Given the description of an element on the screen output the (x, y) to click on. 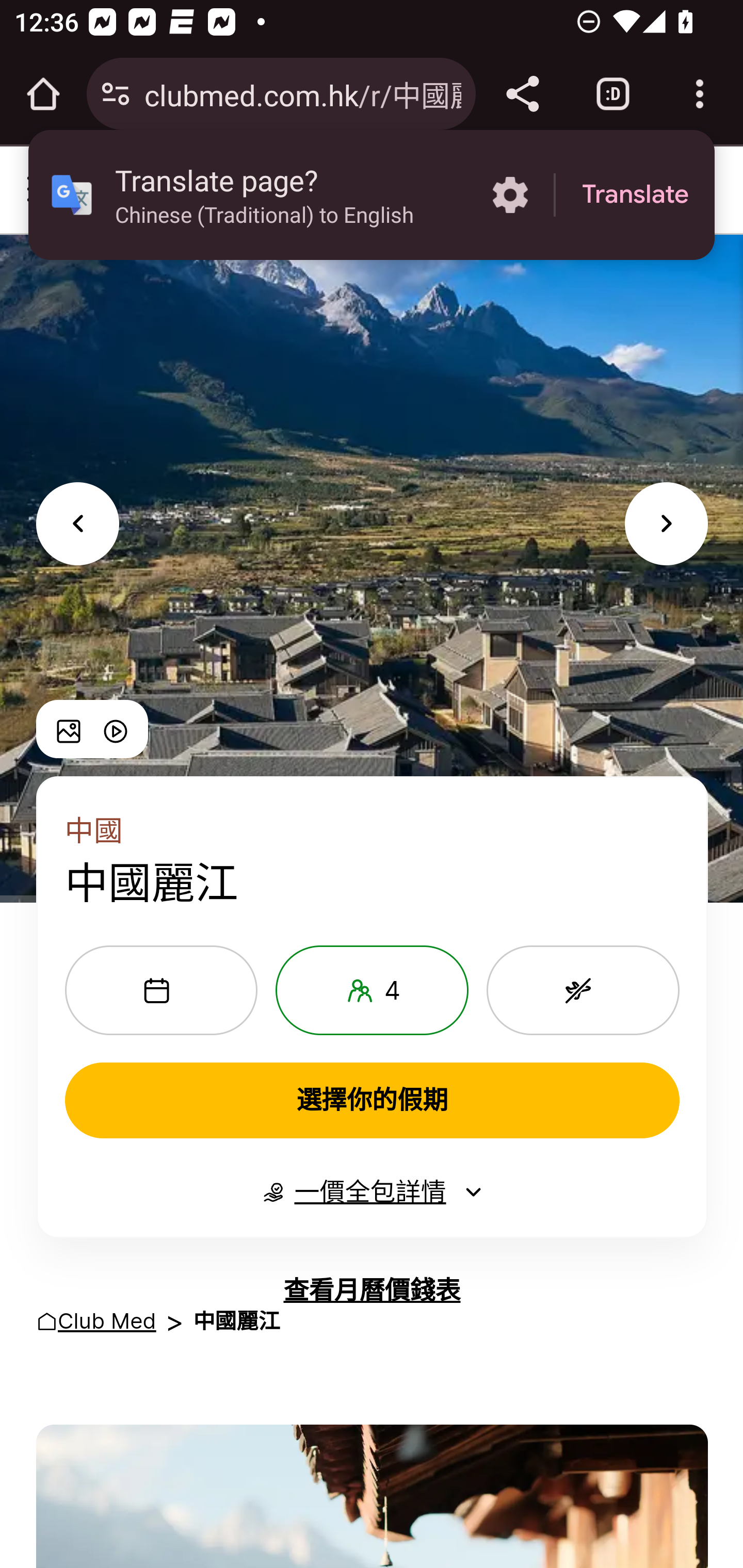
Open the home page (43, 93)
Connection is secure (115, 93)
Share (522, 93)
Switch or close tabs (612, 93)
Customize and control Google Chrome (699, 93)
Translate (634, 195)
Club Med Homepage (269, 190)
More options in the Translate page? (509, 195)
Previous picture of 中國麗江 (77, 523)
Next picture of 中國麗江 (666, 523)
相片 (20) - Open slideshow gallery (69, 729)
影片 (1) - Open slideshow gallery (115, 729)
4 (371, 989)
選擇你的假期 (371, 1099)
一價全包詳情 (371, 1191)
查看月曆價錢表 (371, 1291)
Club Med (106, 1322)
